Given the description of an element on the screen output the (x, y) to click on. 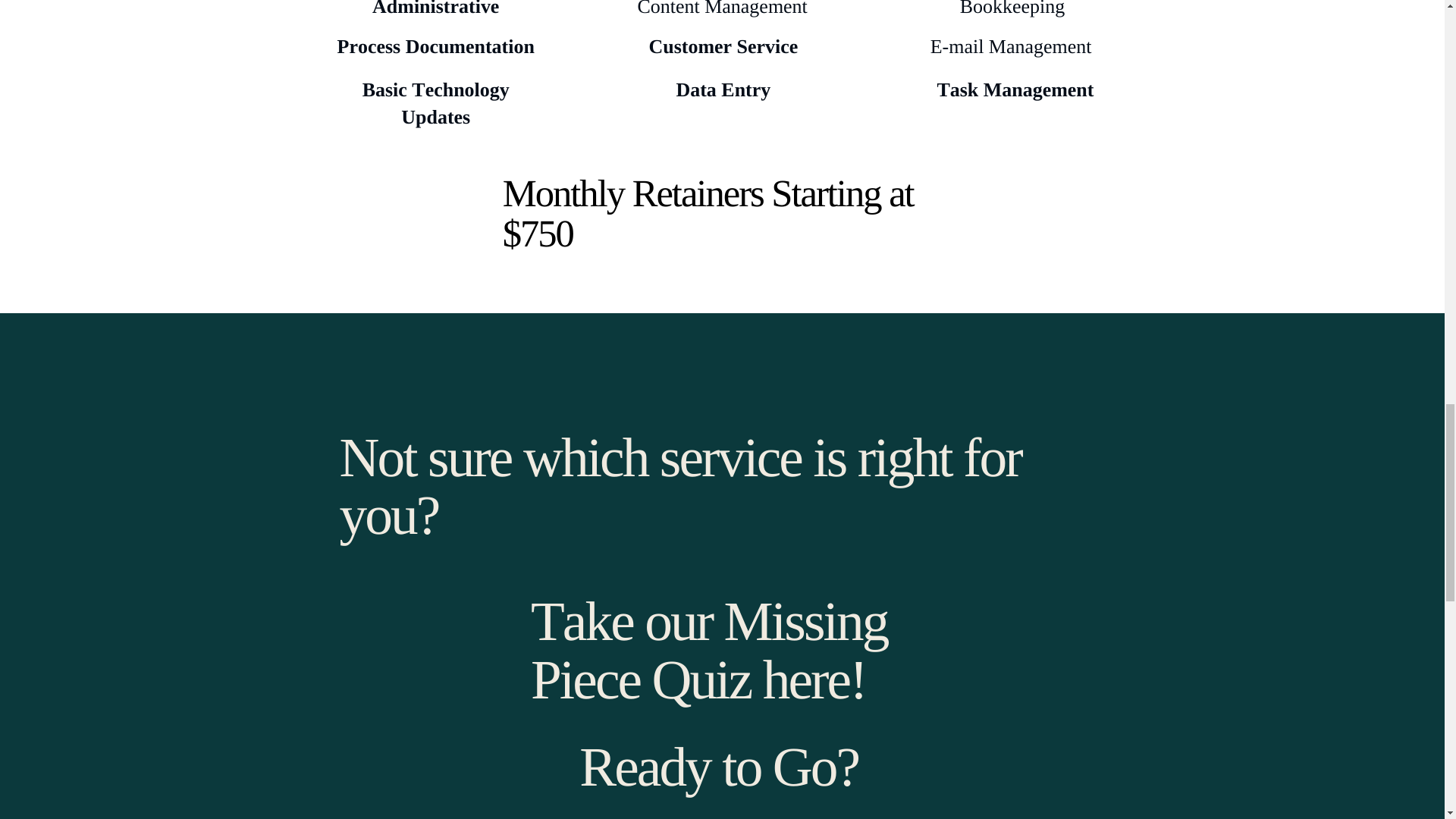
Take our Missing Piece Quiz here! (708, 650)
